Given the description of an element on the screen output the (x, y) to click on. 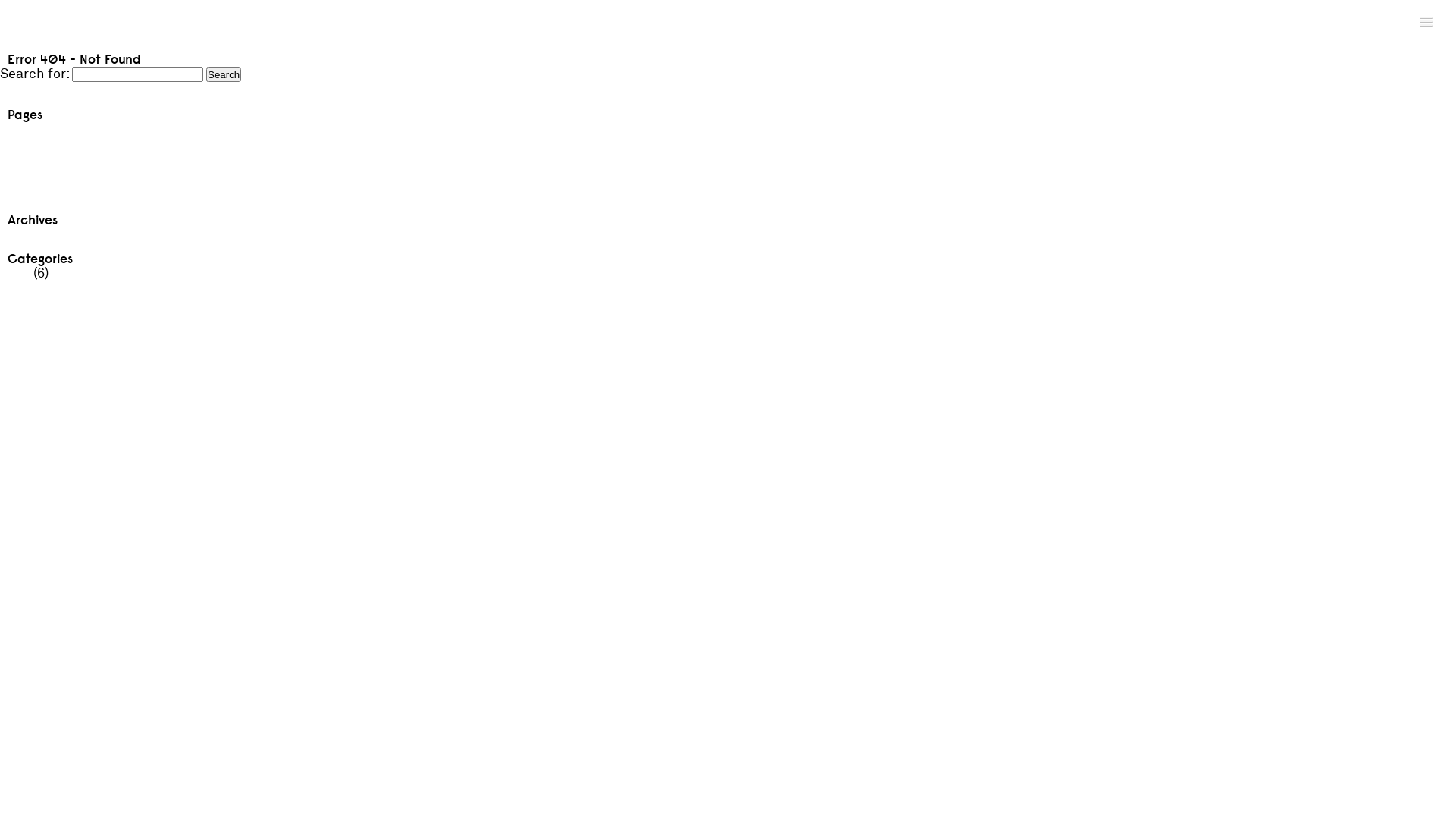
Case Element type: text (15, 273)
Om Element type: text (10, 179)
Case Element type: text (15, 145)
January 2014 Element type: text (41, 234)
Kontakt Element type: text (25, 162)
Startsida Element type: text (29, 195)
Search Element type: text (223, 74)
